Given the description of an element on the screen output the (x, y) to click on. 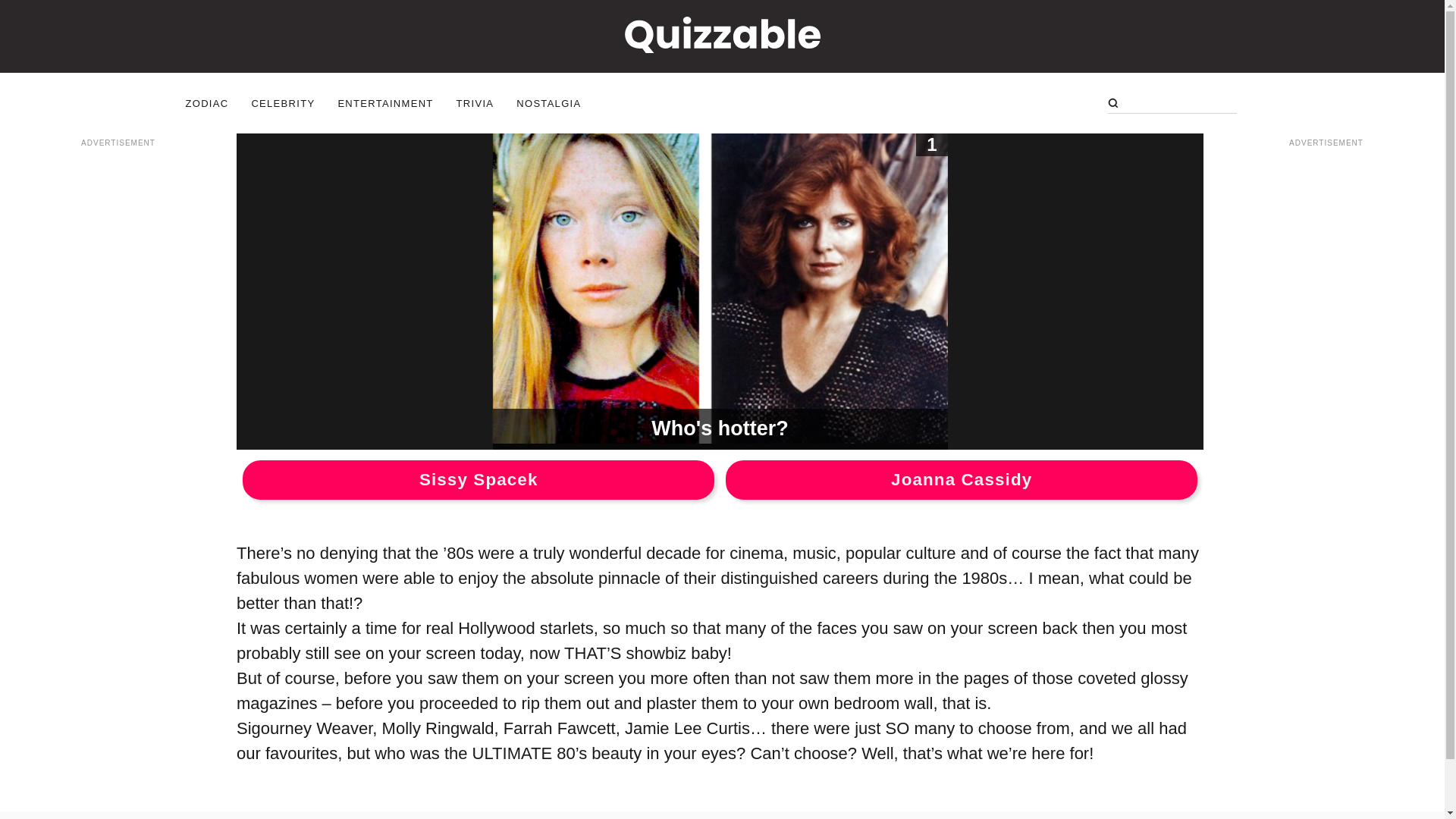
ZODIAC (206, 102)
CELEBRITY (282, 102)
ENTERTAINMENT (384, 102)
NOSTALGIA (548, 102)
TRIVIA (476, 102)
